Given the description of an element on the screen output the (x, y) to click on. 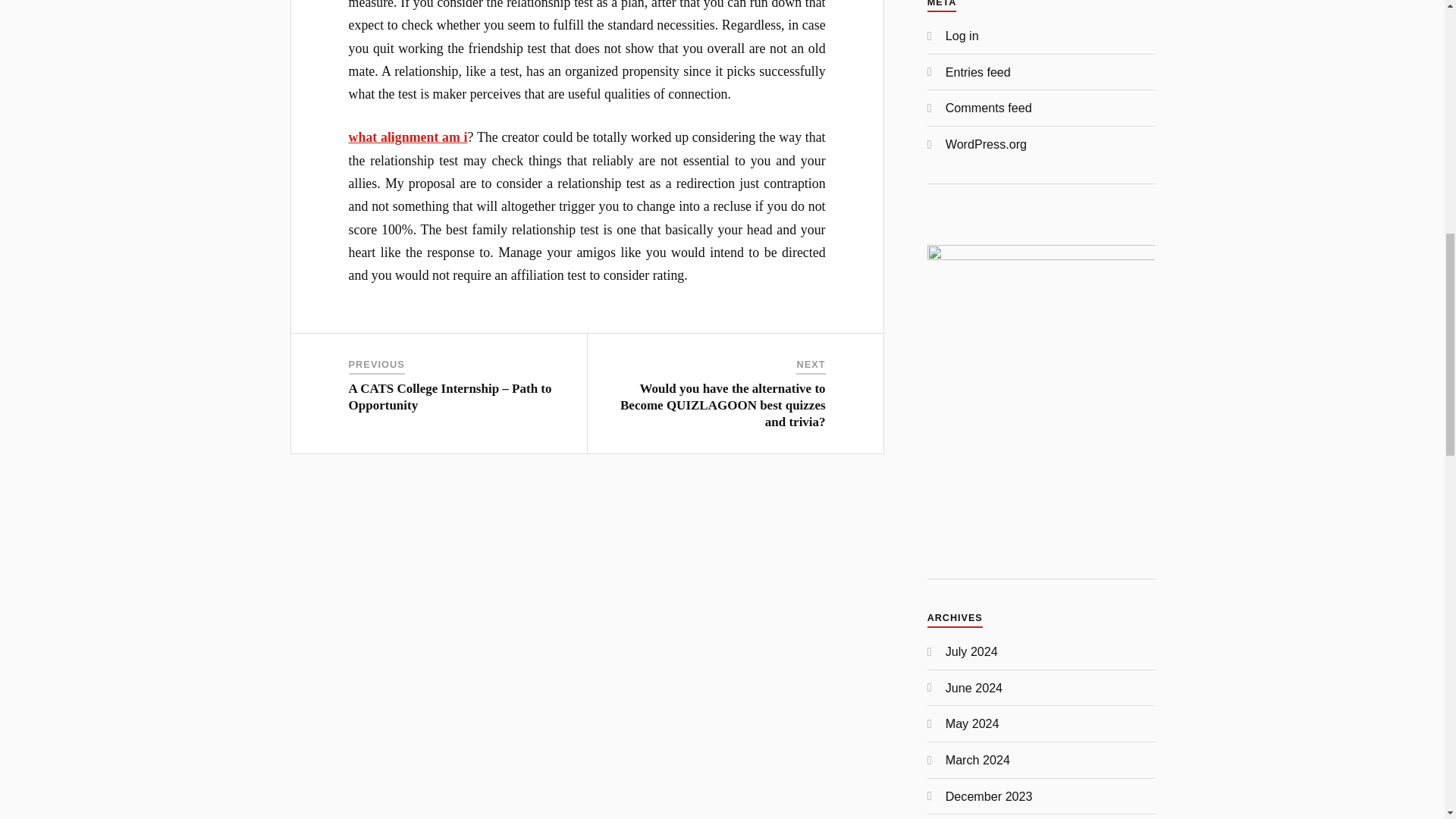
June 2024 (973, 687)
July 2024 (970, 651)
March 2024 (977, 759)
December 2023 (988, 796)
May 2024 (971, 723)
WordPress.org (985, 143)
Comments feed (988, 107)
what alignment am i (408, 136)
Entries feed (977, 71)
